Given the description of an element on the screen output the (x, y) to click on. 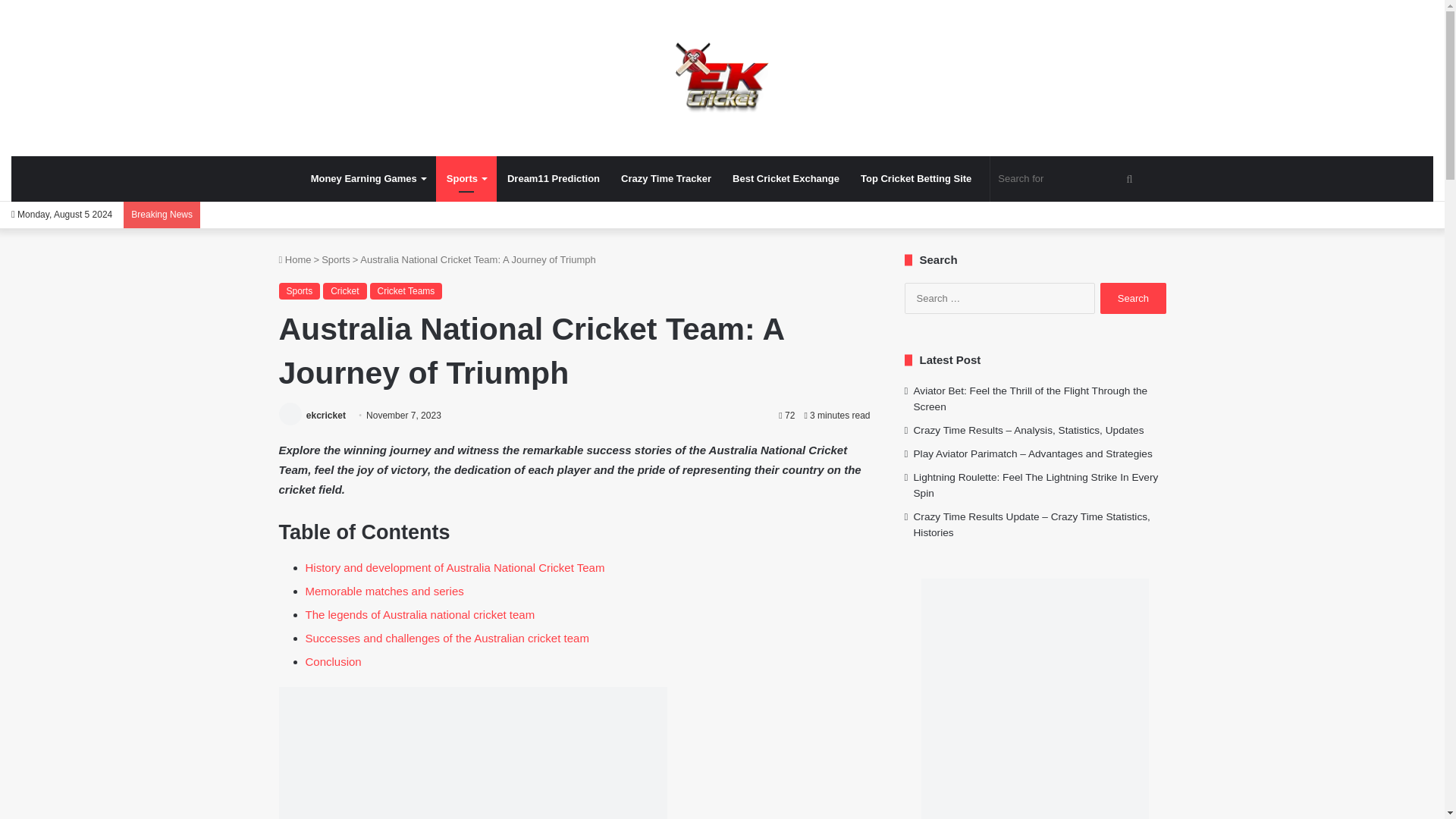
Memorable matches and series (383, 590)
Best Cricket Exchange (786, 178)
Cricket Teams (405, 290)
Dream11 Prediction (553, 178)
Crazy Time Tracker (666, 178)
Sports (465, 178)
Home (295, 259)
ekcricket (722, 77)
Top Cricket Betting Site (915, 178)
Sports (299, 290)
